Given the description of an element on the screen output the (x, y) to click on. 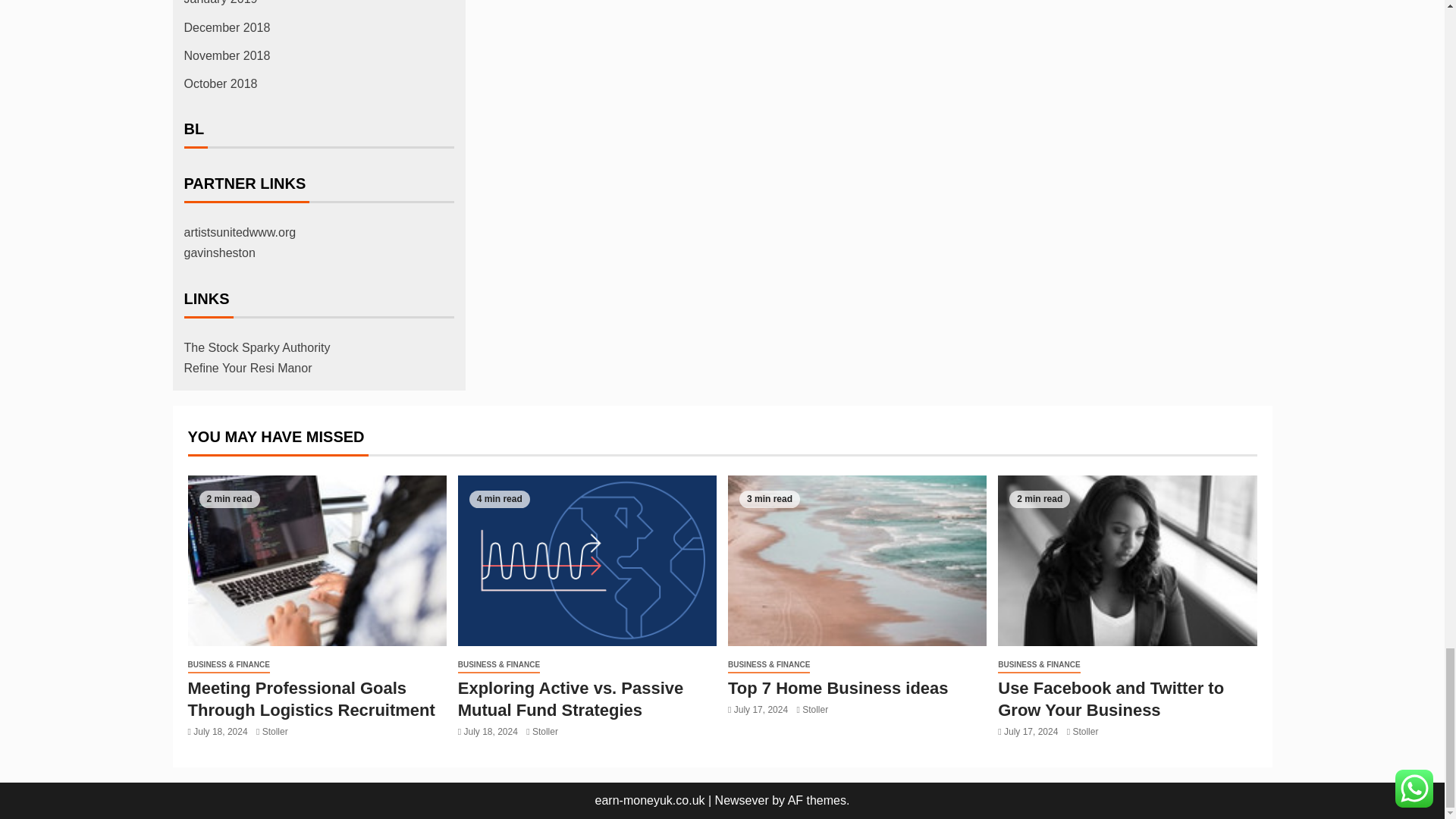
Meeting Professional Goals Through Logistics Recruitment (316, 560)
Top 7 Home Business ideas (857, 560)
Exploring Active vs. Passive Mutual Fund Strategies (587, 560)
